Given the description of an element on the screen output the (x, y) to click on. 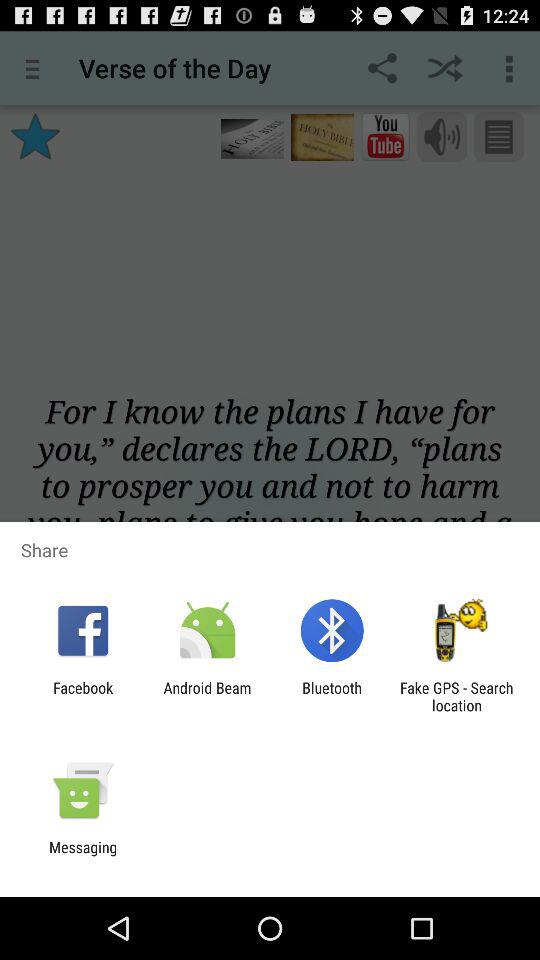
launch the app next to fake gps search item (331, 696)
